Given the description of an element on the screen output the (x, y) to click on. 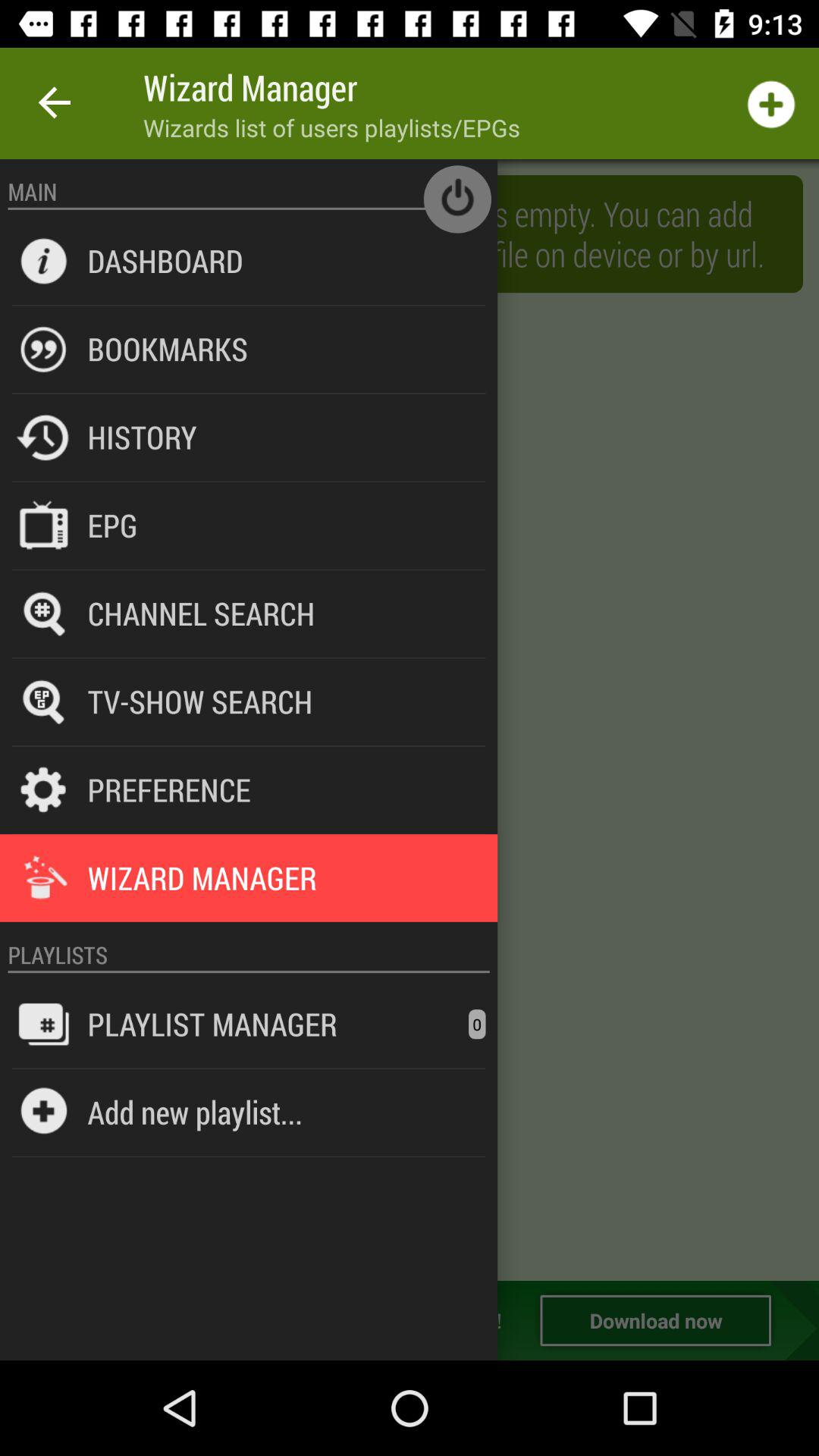
main off button (457, 199)
